Given the description of an element on the screen output the (x, y) to click on. 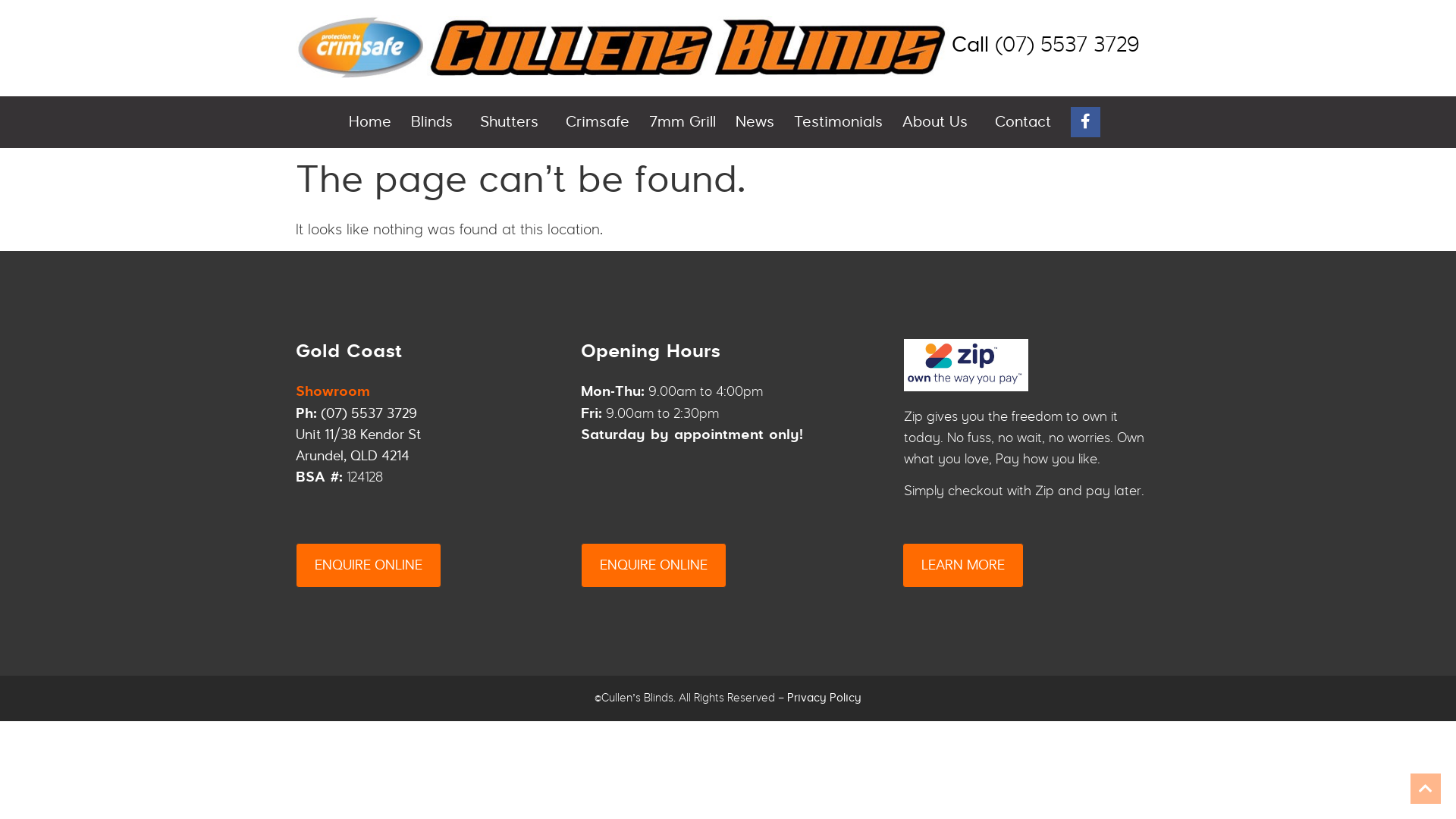
(07) 5537 3729 Element type: text (1066, 44)
(07) 5537 3729 Element type: text (368, 413)
Privacy Policy Element type: text (824, 697)
About Us Element type: text (938, 121)
Gold Coast Element type: text (348, 352)
Opening Hours Element type: text (650, 352)
Shutters Element type: text (512, 121)
Unit 11/38 Kendor St
Arundel, QLD 4214 Element type: text (357, 445)
LEARN MORE Element type: text (962, 564)
Testimonials Element type: text (838, 121)
ENQUIRE ONLINE Element type: text (653, 564)
ENQUIRE ONLINE Element type: text (368, 564)
News Element type: text (754, 121)
Contact Element type: text (1022, 121)
Home Element type: text (369, 121)
Blinds Element type: text (435, 121)
7mm Grill Element type: text (682, 121)
Crimsafe Element type: text (597, 121)
